Given the description of an element on the screen output the (x, y) to click on. 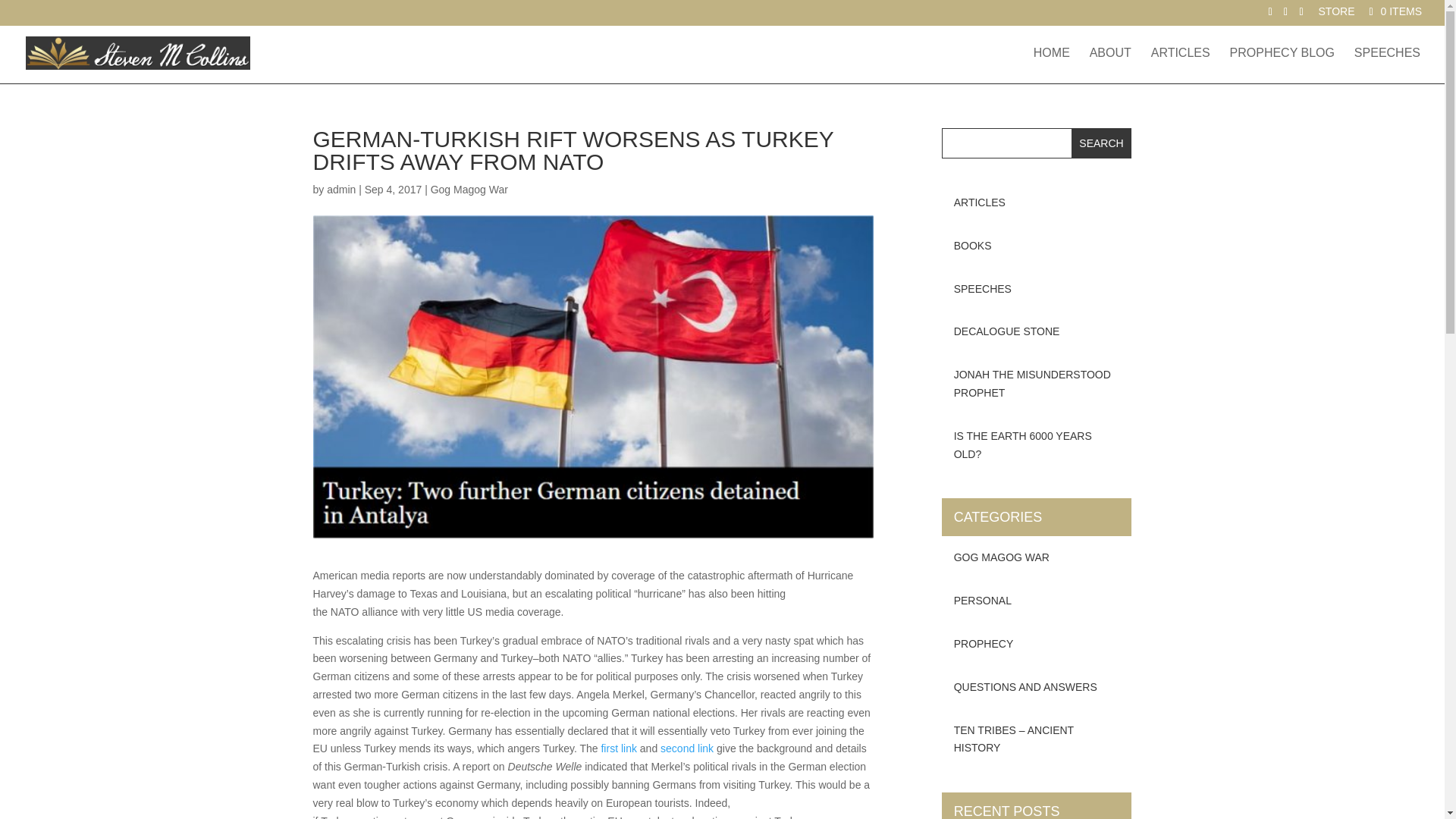
PROPHECY BLOG (1282, 65)
second link (687, 748)
ARTICLES (1180, 65)
ABOUT (1110, 65)
first link (617, 748)
Search (1101, 142)
HOME (1051, 65)
STORE (1337, 15)
SPEECHES (1387, 65)
Gog Magog War (469, 189)
